Given the description of an element on the screen output the (x, y) to click on. 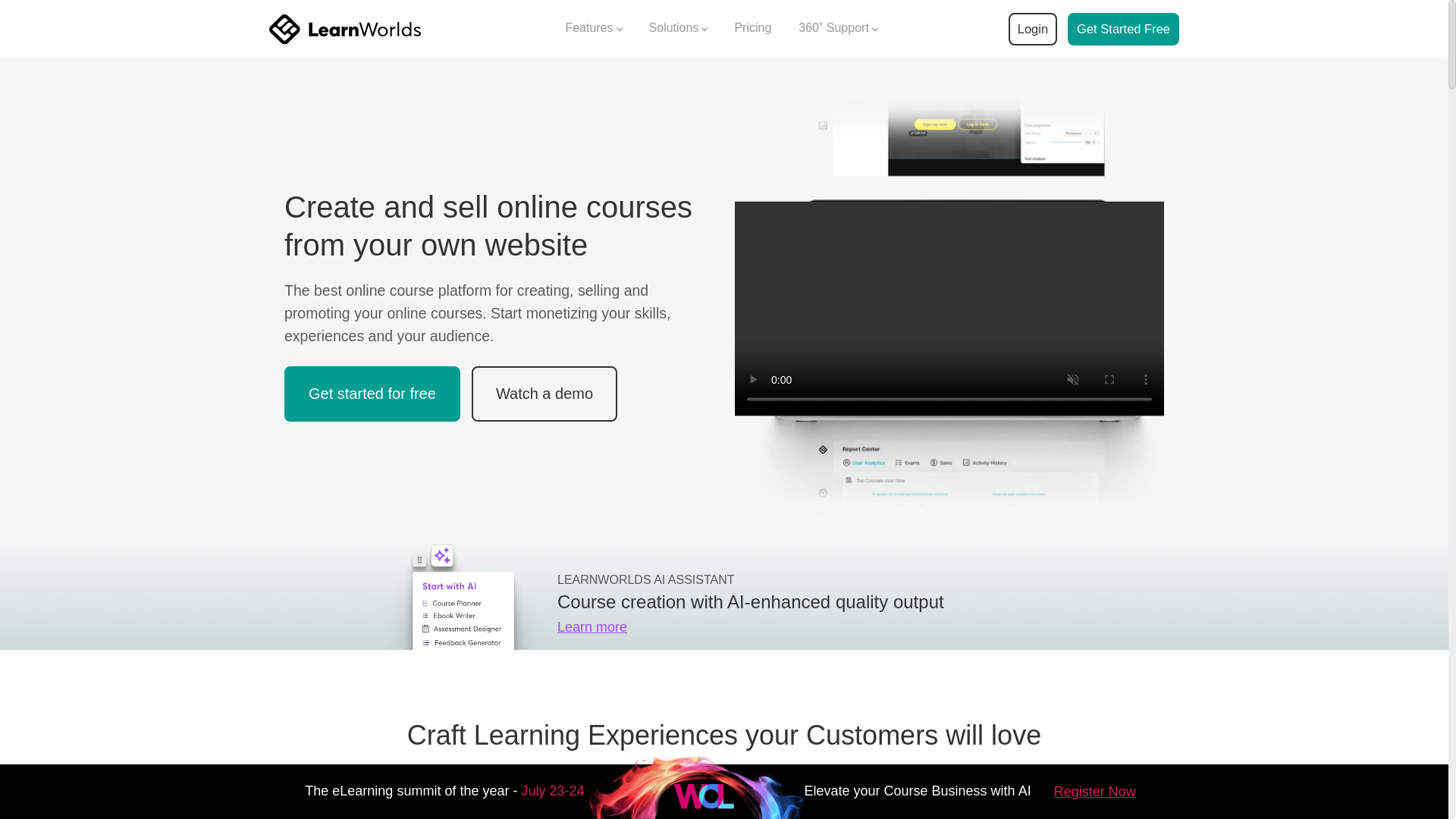
Start your demo with LearnWorlds (1123, 29)
LearnWorlds home (344, 28)
Features (592, 29)
Login to your LearnWorlds account (1032, 29)
